Given the description of an element on the screen output the (x, y) to click on. 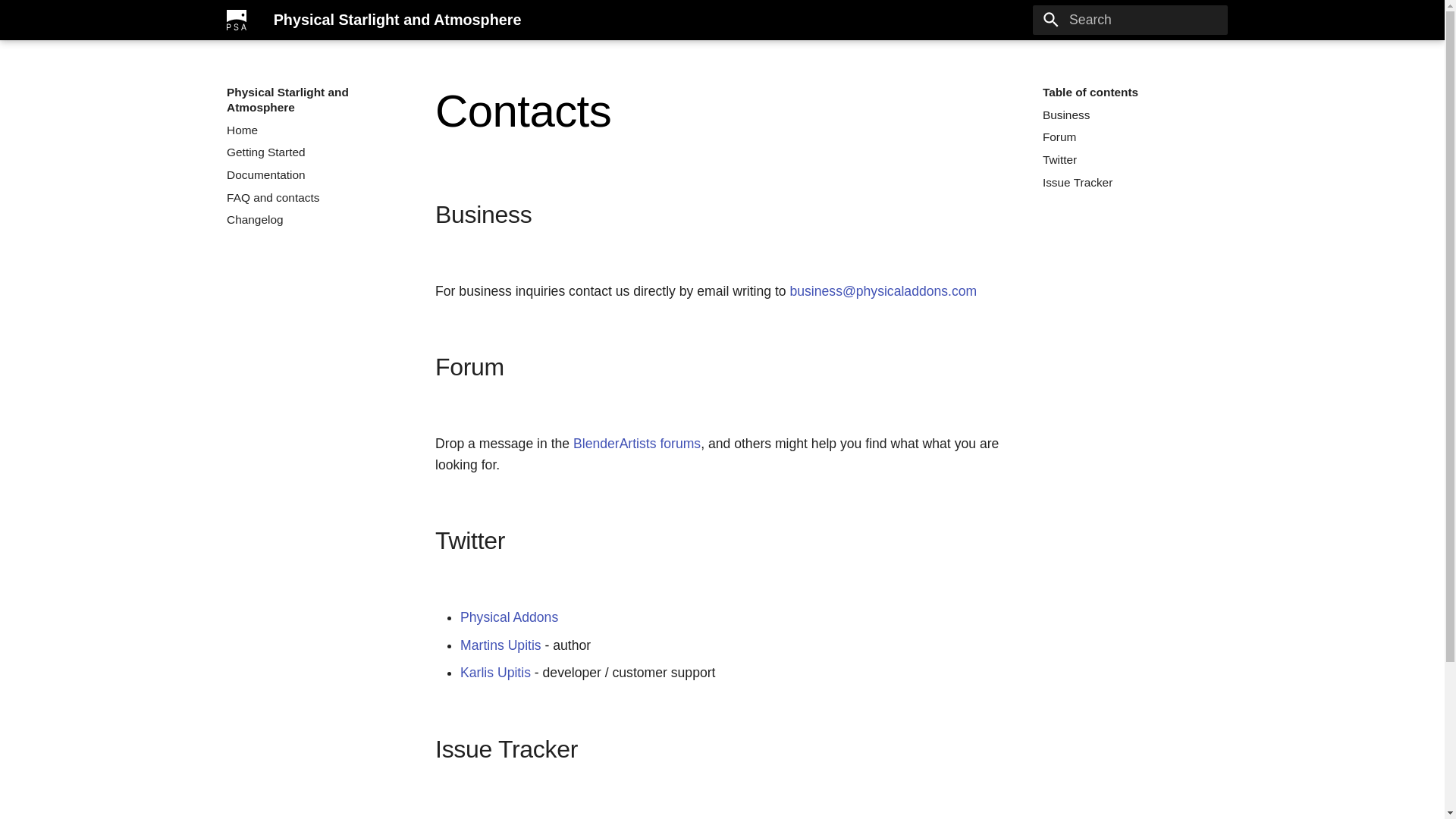
Issue Tracker (1129, 182)
Physical Starlight and Atmosphere (236, 19)
Martins Upitis (500, 645)
Business (1129, 114)
BlenderArtists forums (636, 443)
Documentation (314, 174)
Home (314, 130)
FAQ and contacts (314, 197)
Issue Tracker (699, 818)
Twitter (1129, 159)
Getting Started (314, 151)
Karlis Upitis (495, 672)
Physical Addons (508, 616)
